Given the description of an element on the screen output the (x, y) to click on. 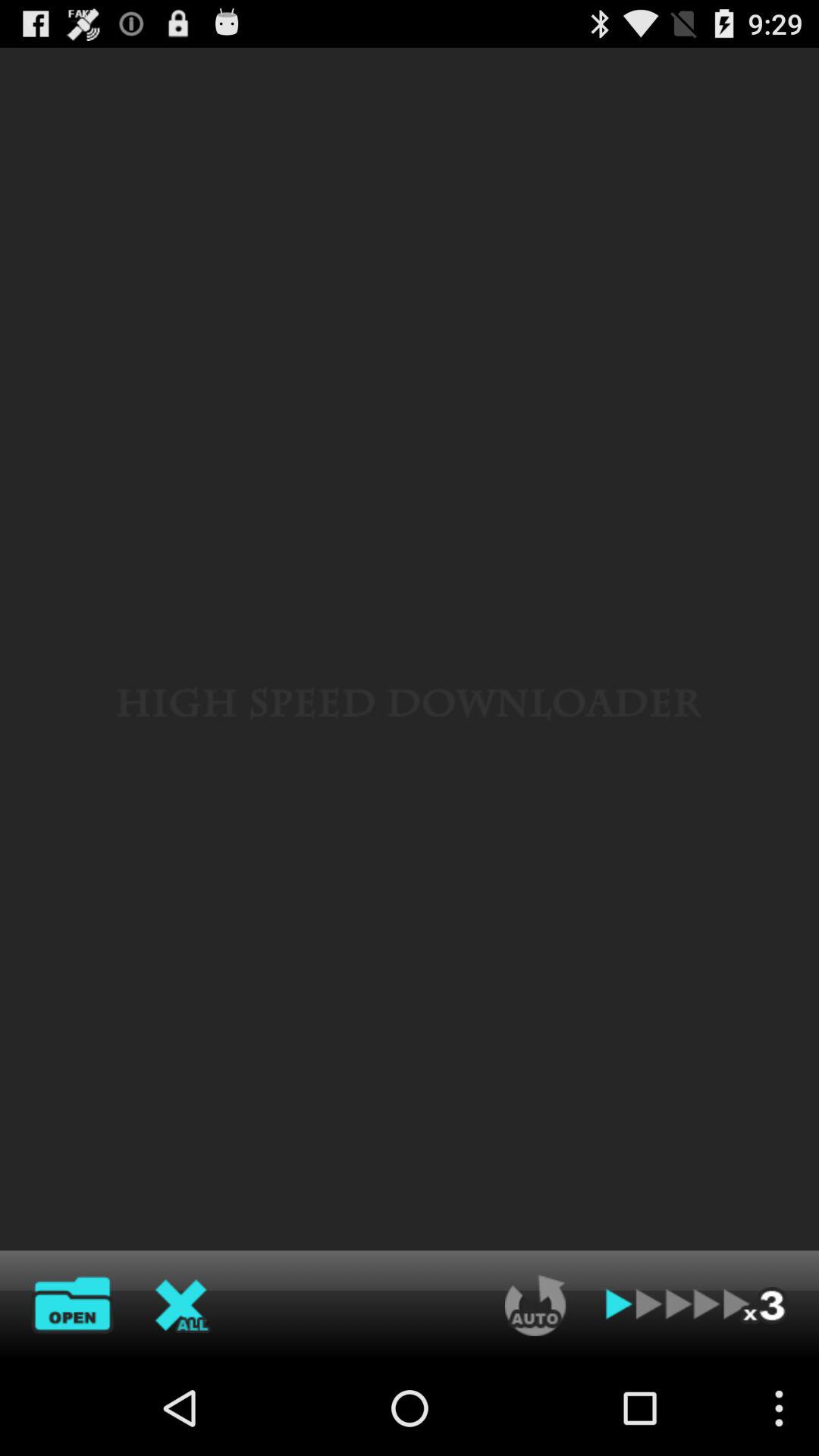
file open option (72, 1305)
